Given the description of an element on the screen output the (x, y) to click on. 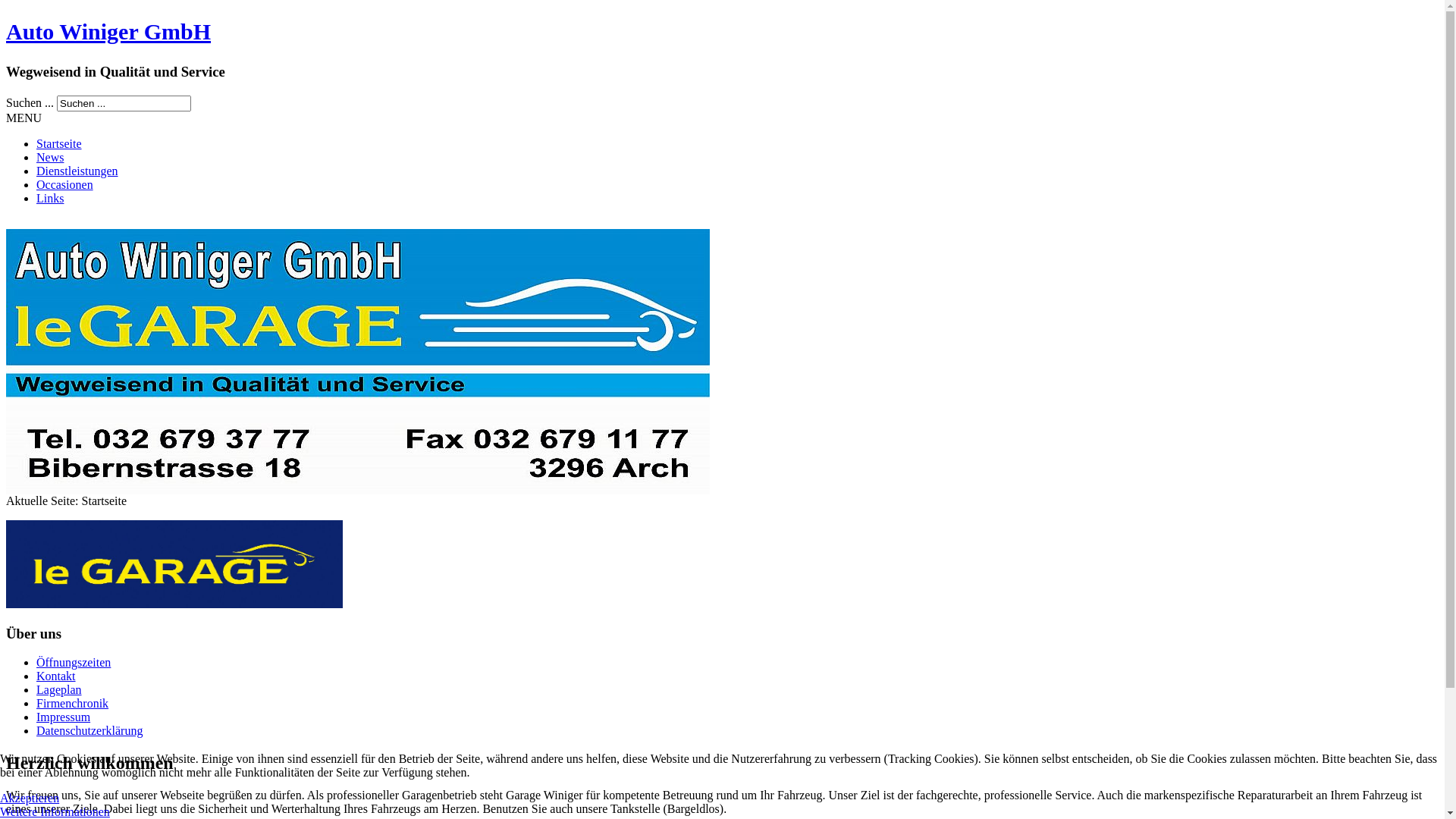
Occasionen Element type: text (64, 184)
Links Element type: text (49, 197)
Impressum Element type: text (63, 716)
Kontakt Element type: text (55, 675)
Firmenchronik Element type: text (72, 702)
News Element type: text (49, 156)
Dienstleistungen Element type: text (77, 170)
Lageplan Element type: text (58, 689)
Startseite Element type: text (58, 143)
Akzeptieren Element type: text (29, 797)
Auto Winiger GmbH Element type: text (108, 30)
Weitere Informationen Element type: text (54, 811)
